Given the description of an element on the screen output the (x, y) to click on. 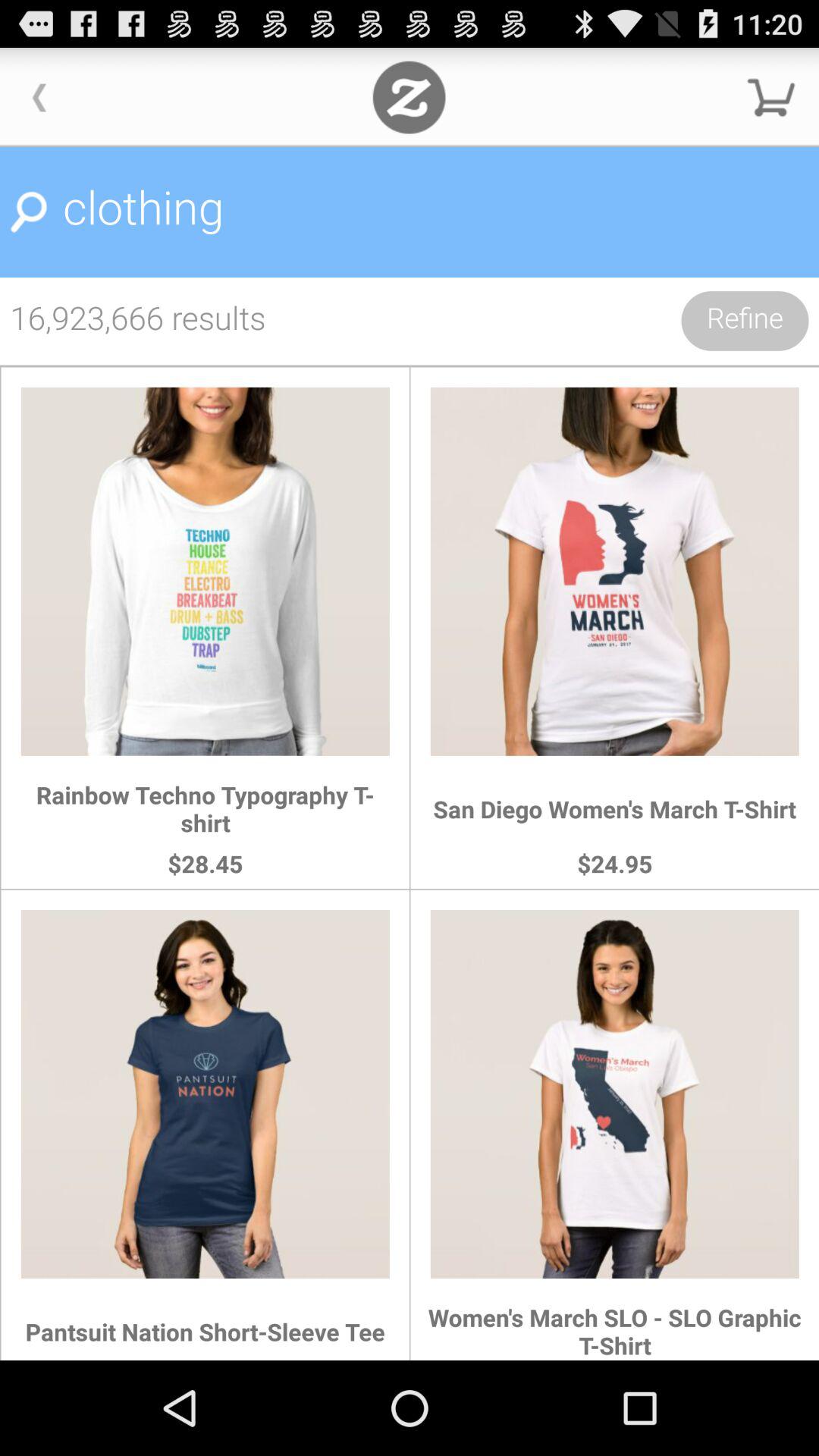
jump to clothing (409, 212)
